Given the description of an element on the screen output the (x, y) to click on. 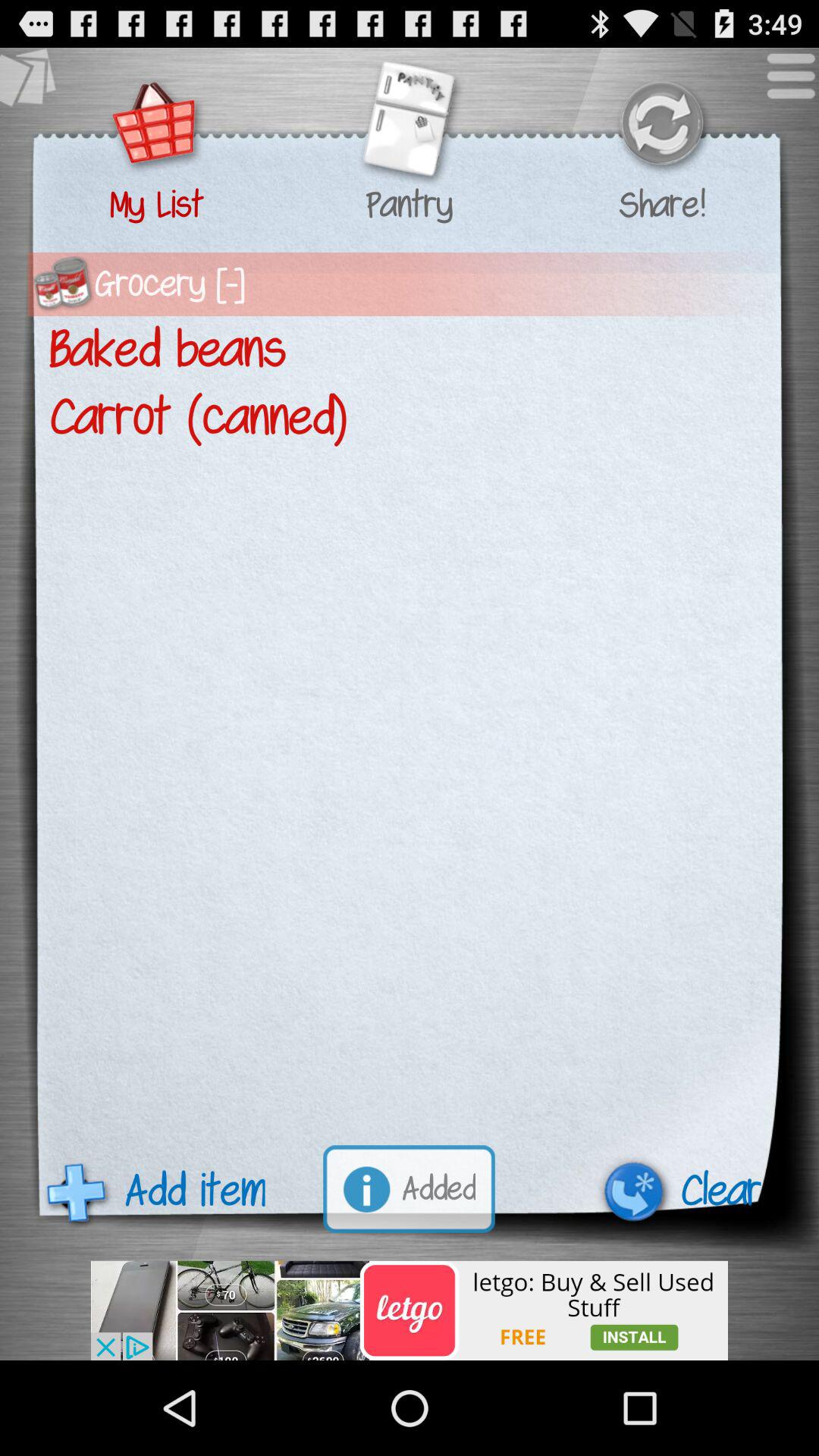
my list (156, 125)
